Given the description of an element on the screen output the (x, y) to click on. 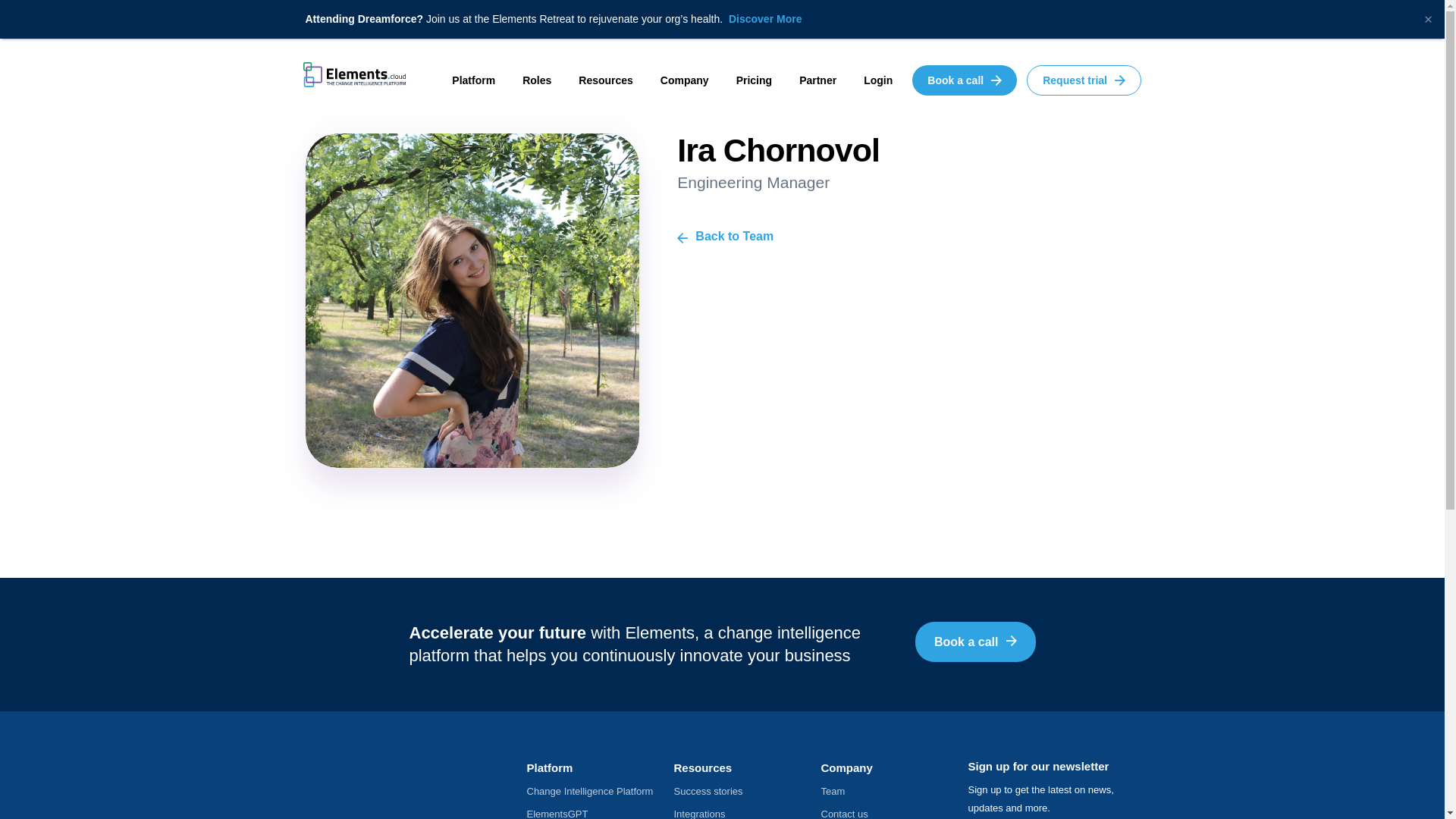
Discover More (765, 19)
Go home (354, 73)
Resources (605, 74)
